Given the description of an element on the screen output the (x, y) to click on. 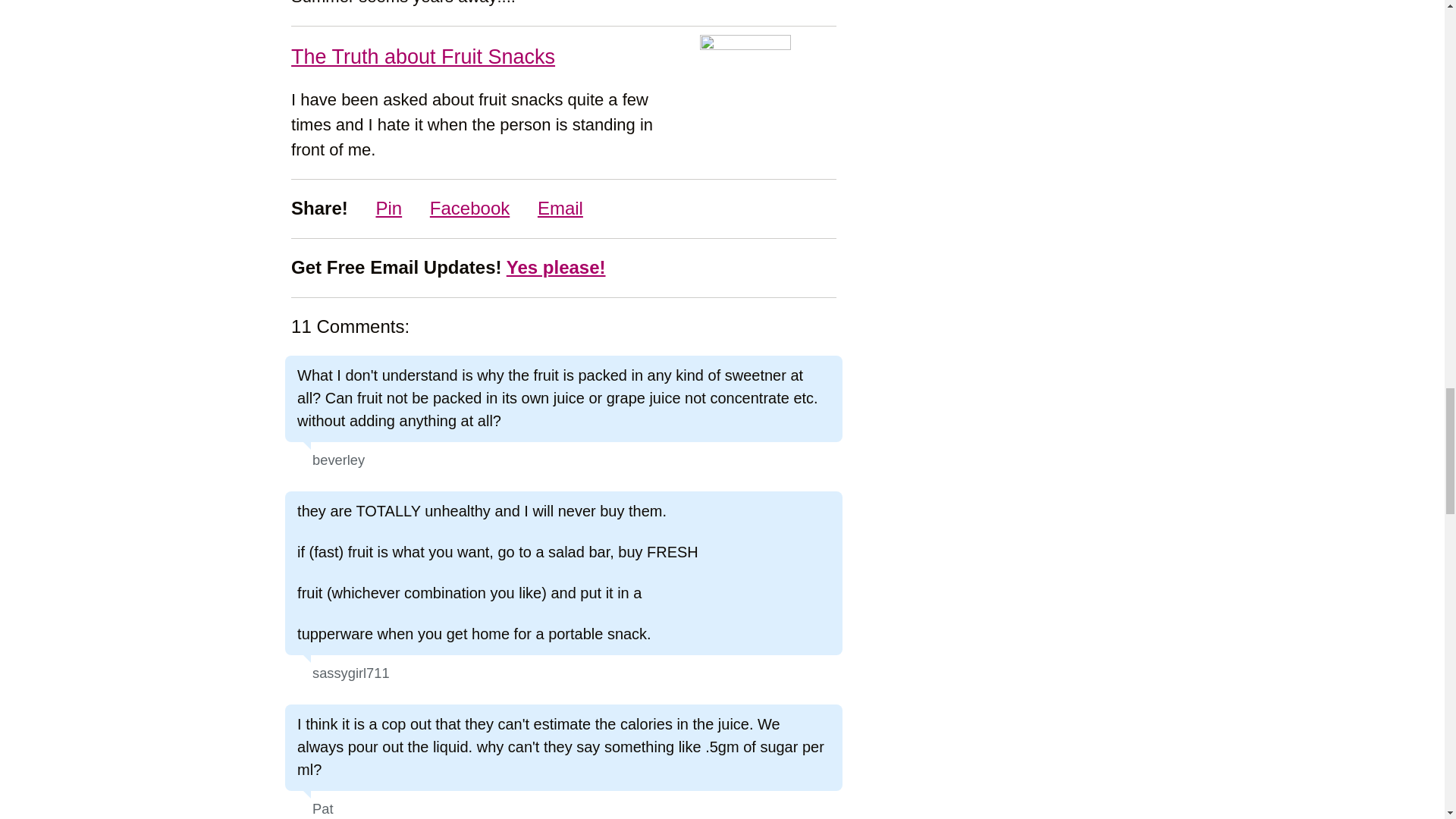
Facebook (458, 208)
Email (549, 208)
Pin (376, 208)
Yes please! (555, 267)
The Truth about Fruit Snacks (422, 56)
